Given the description of an element on the screen output the (x, y) to click on. 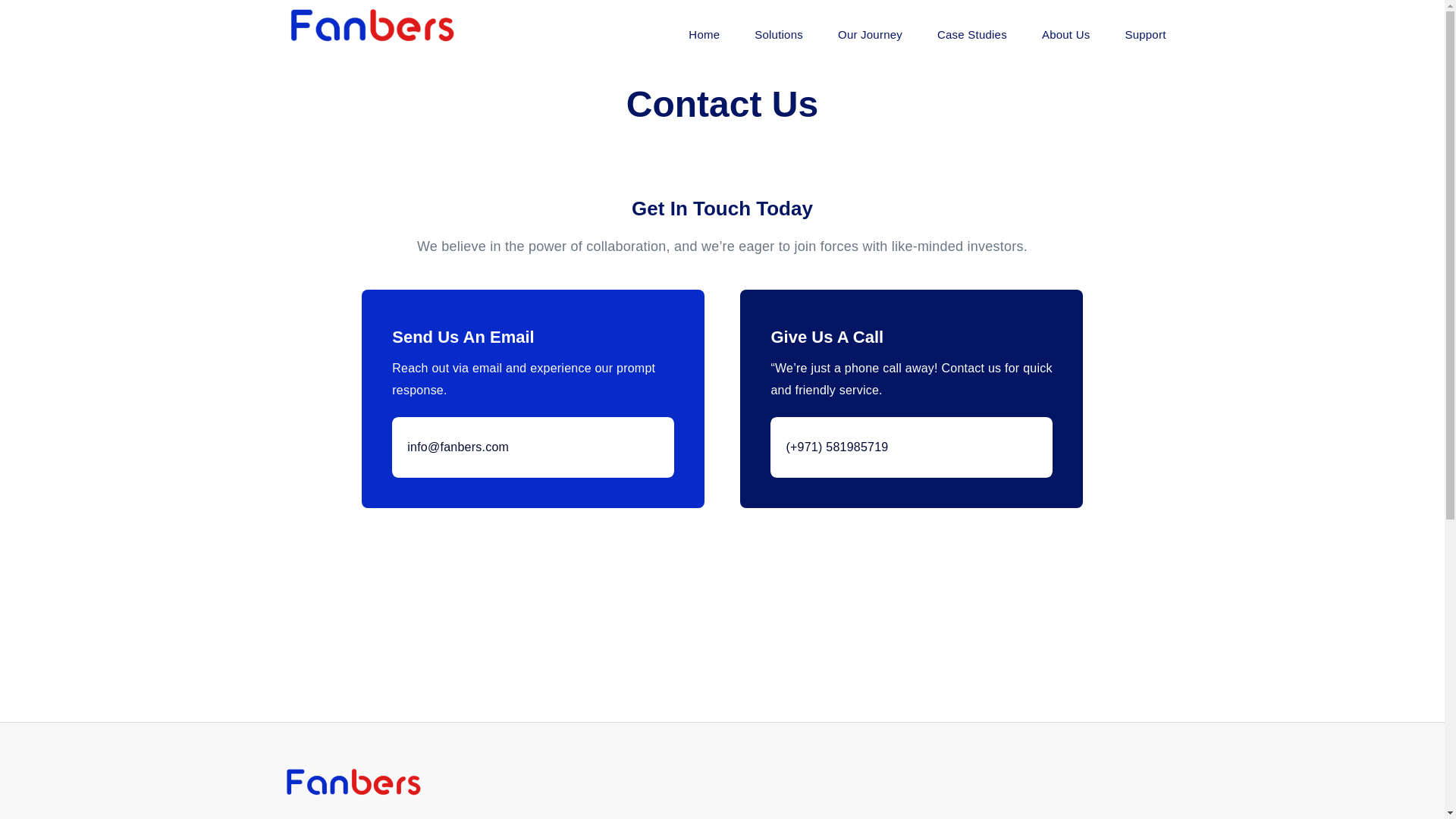
About Us (1066, 34)
Home (703, 34)
Our Journey (870, 34)
Solutions (777, 34)
Support (1144, 34)
Case Studies (971, 34)
